Given the description of an element on the screen output the (x, y) to click on. 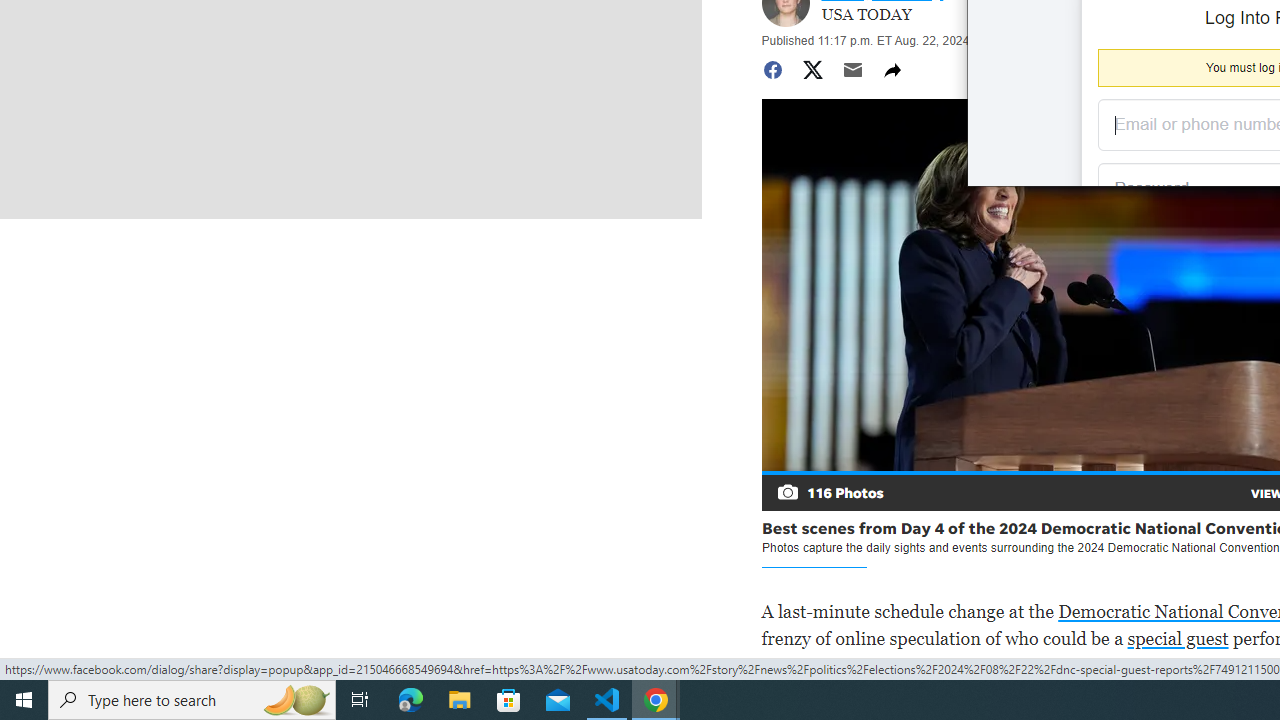
Start (24, 699)
Share by email (852, 69)
